Given the description of an element on the screen output the (x, y) to click on. 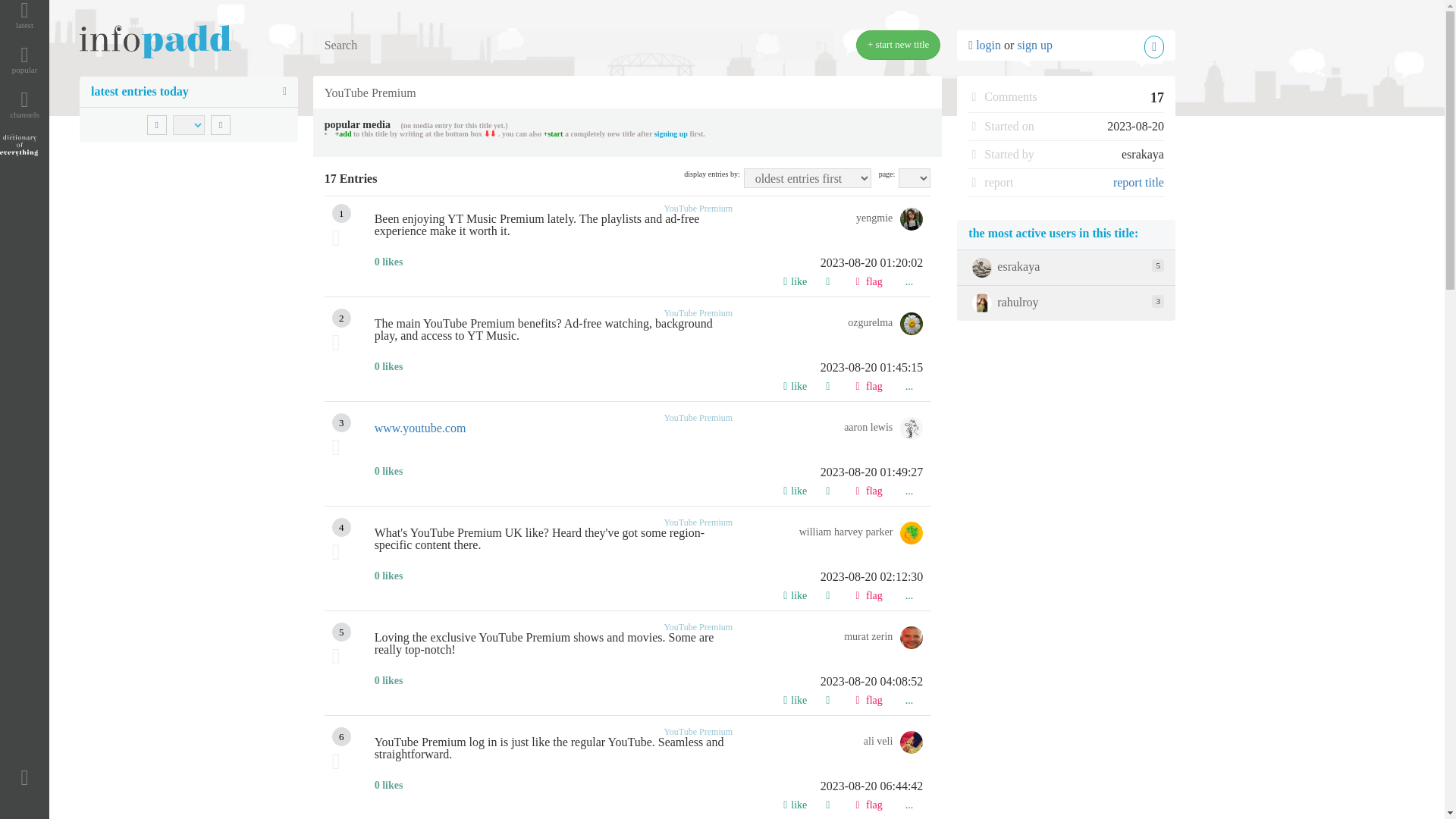
2023-08-20 02:12:30 (648, 576)
... (909, 383)
2023-08-20 01:49:27 (648, 472)
2023-08-20 06:44:42 (648, 786)
channels (24, 102)
flag (868, 383)
ozgurelma (885, 324)
... (909, 279)
like (794, 383)
2023-08-20 04:08:52 (648, 681)
popular (24, 58)
flag (868, 487)
2023-08-20 01:45:15 (648, 367)
like (794, 487)
aaron lewis (883, 429)
